Given the description of an element on the screen output the (x, y) to click on. 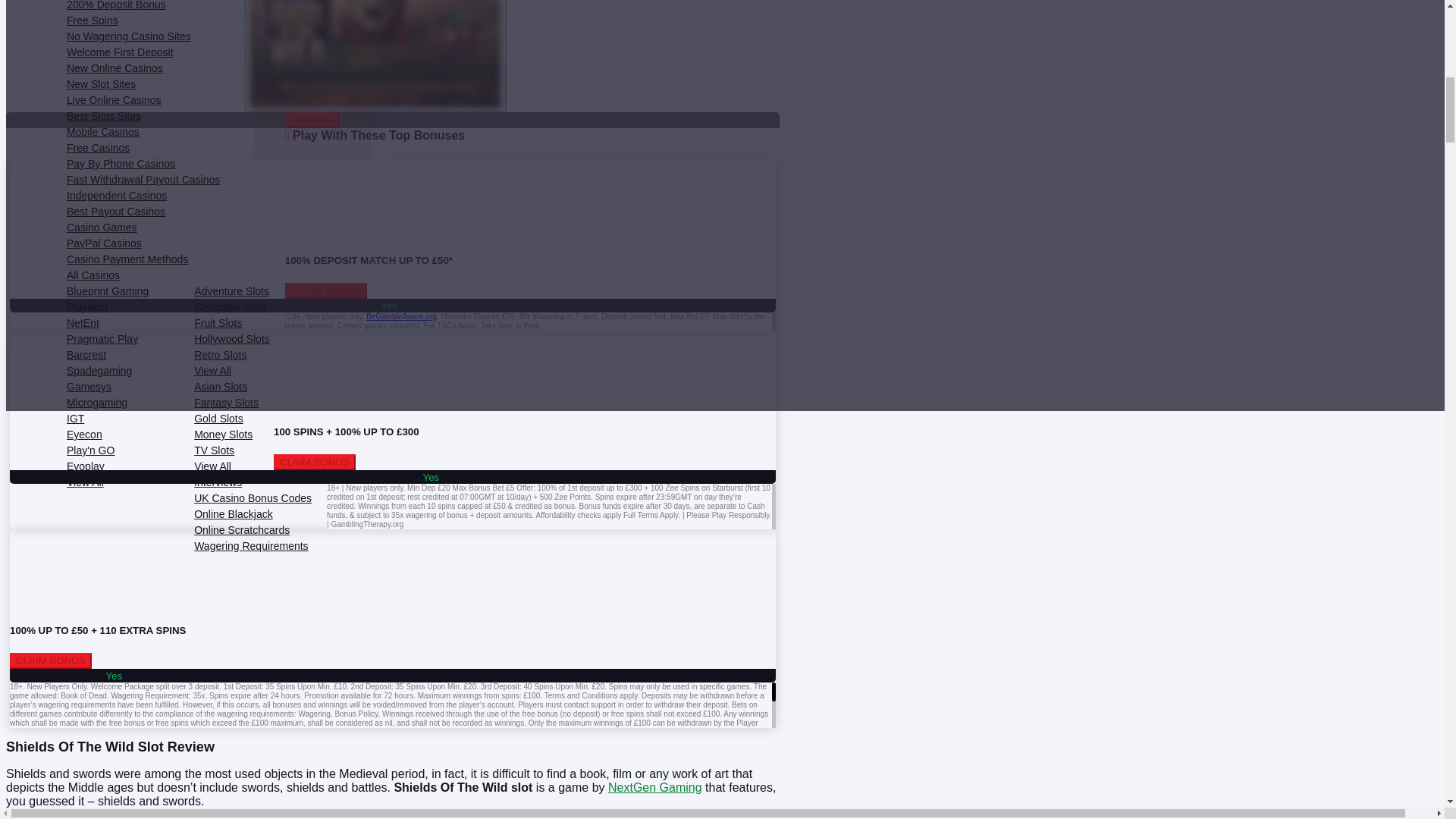
CLAIM BONUS (314, 462)
CLAIM BONUS (325, 290)
Shields Of The Wild Slot (375, 53)
CLAIM BONUS (50, 660)
